Given the description of an element on the screen output the (x, y) to click on. 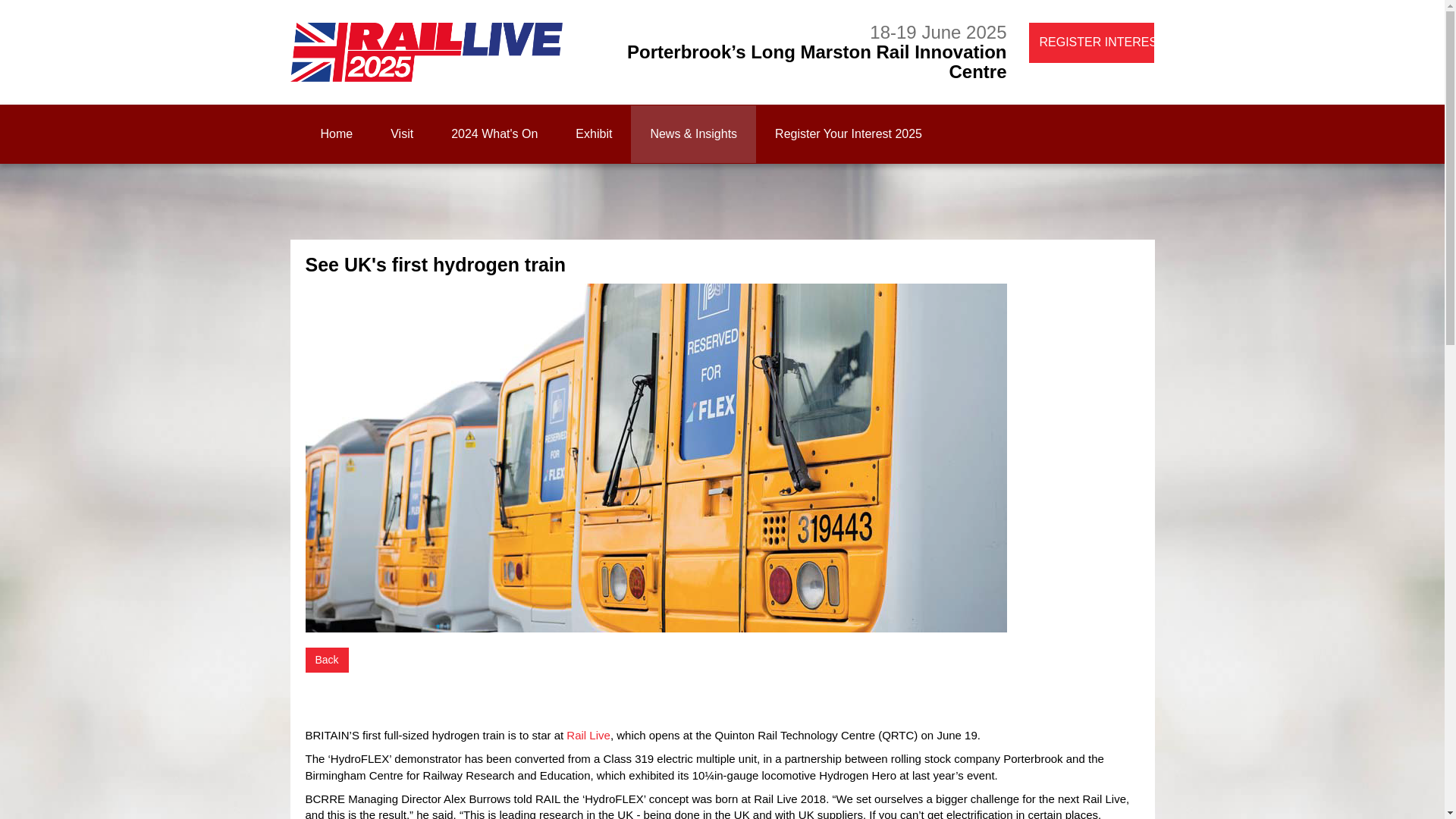
Visit (401, 133)
Register Your Interest 2025 (847, 133)
Exhibit (593, 133)
Home (336, 133)
REGISTER INTEREST (1091, 42)
2024 What's On (494, 133)
